Given the description of an element on the screen output the (x, y) to click on. 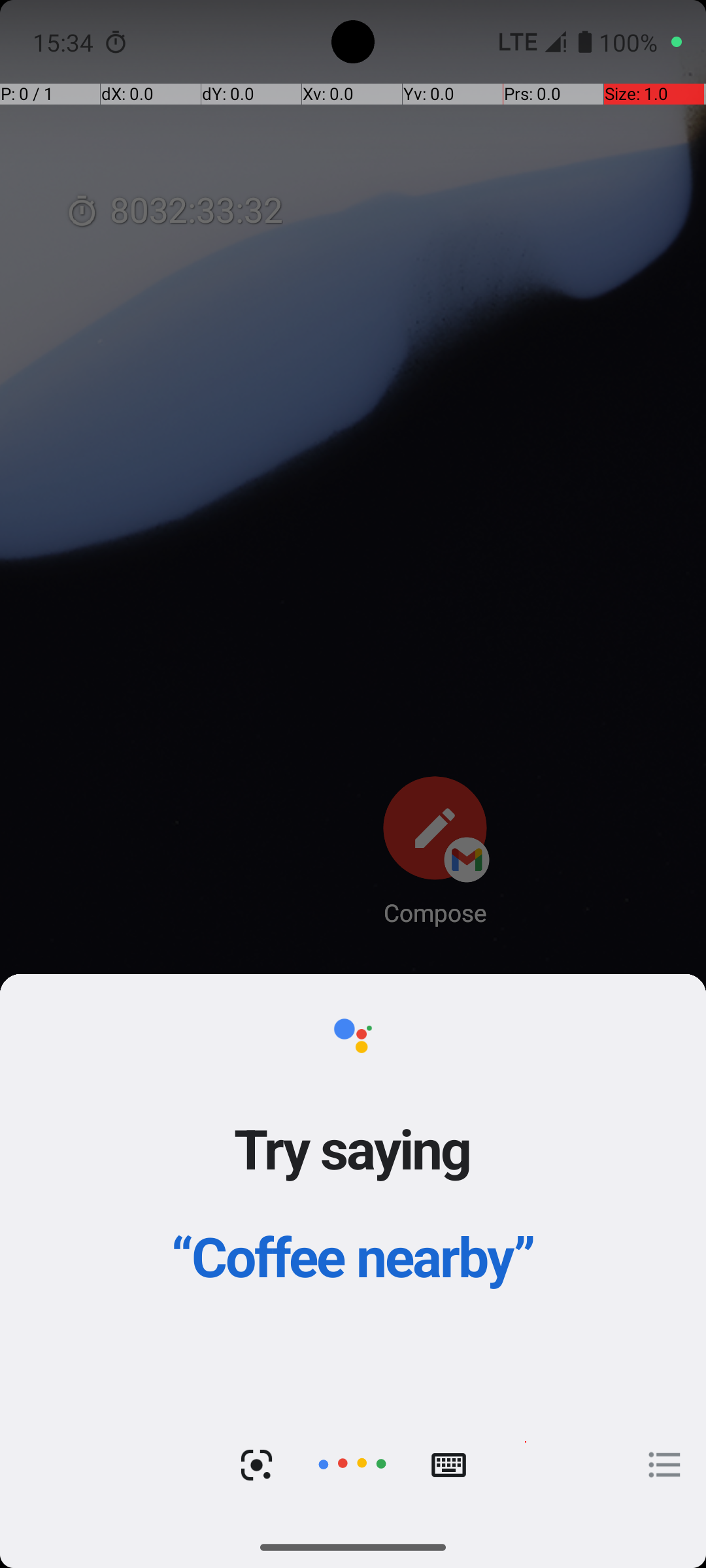
Google Assistant greeting container. Element type: android.widget.LinearLayout (353, 1188)
Tap to cancel Element type: android.view.View (351, 1465)
Google Assistant greeting. Element type: android.widget.FrameLayout (353, 1250)
Try saying Element type: android.widget.TextView (352, 1147)
“Coffee nearby” Element type: android.widget.TextView (352, 1255)
Applications are using your microphone. Element type: android.widget.FrameLayout (633, 41)
